Given the description of an element on the screen output the (x, y) to click on. 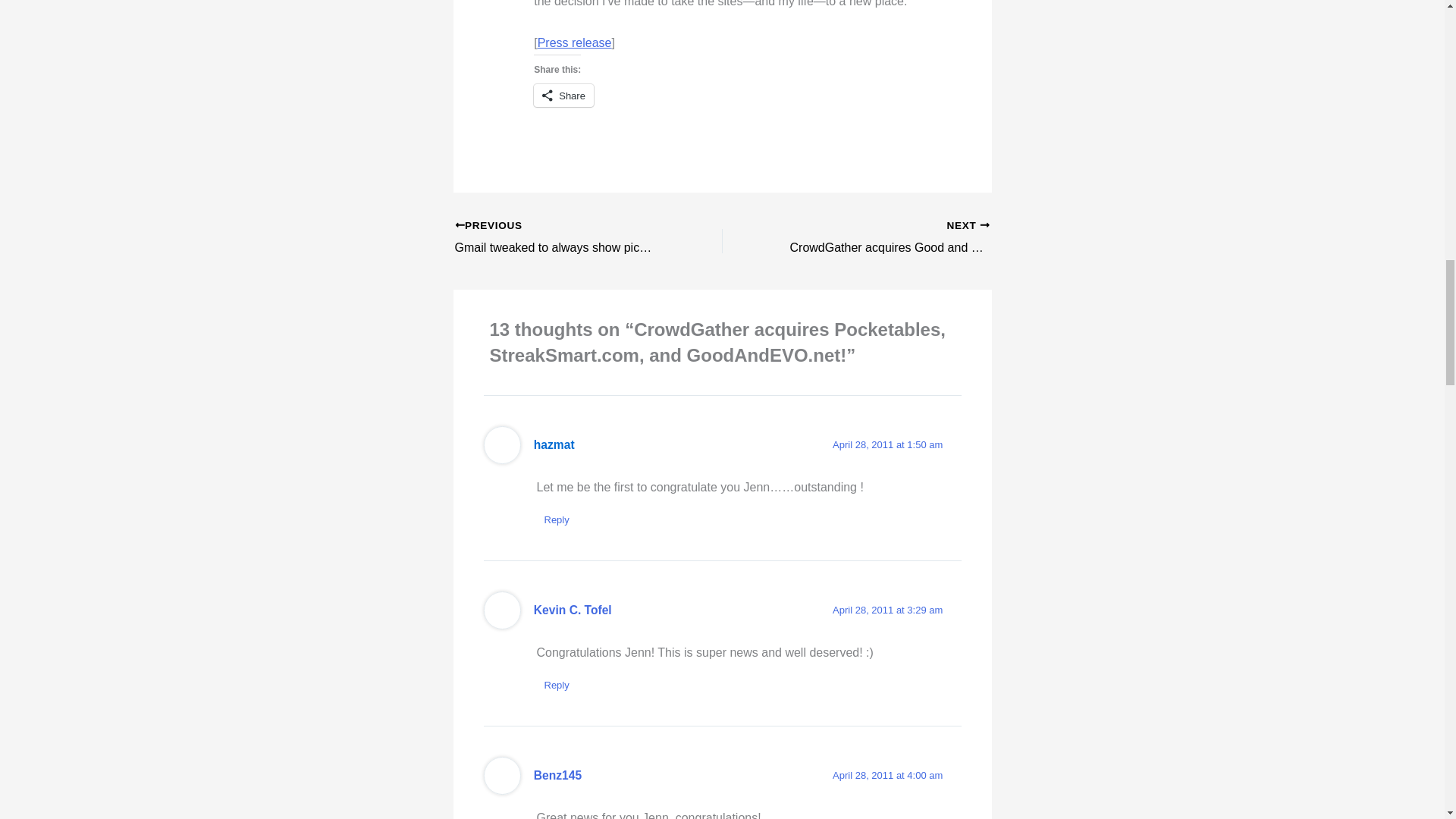
CrowdGather acquires Good and EVO! (882, 237)
